Given the description of an element on the screen output the (x, y) to click on. 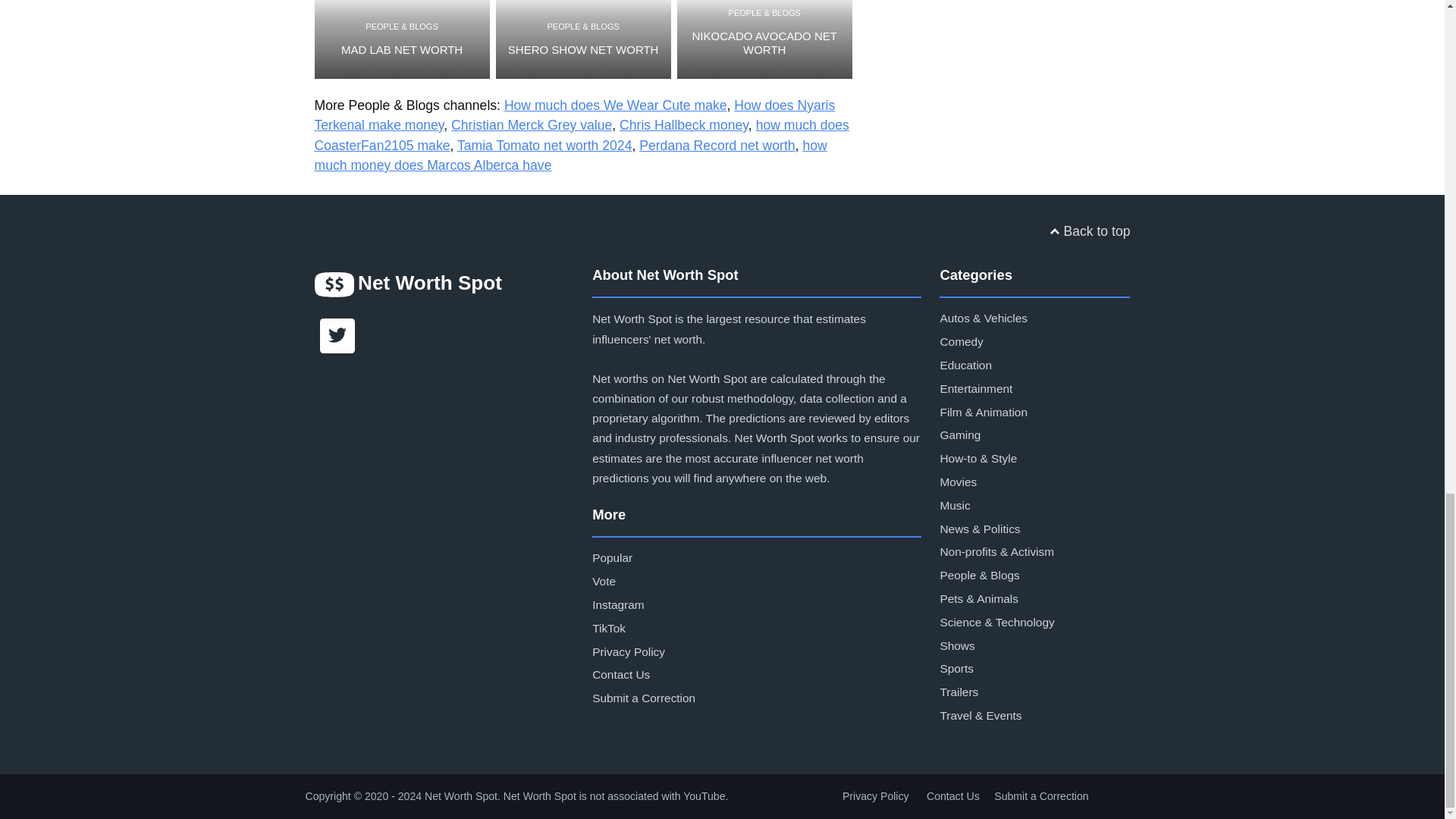
MAD LAB Net Worth (401, 39)
Nikocado Avocado Net Worth (764, 39)
Shero Show Net Worth (583, 39)
